Given the description of an element on the screen output the (x, y) to click on. 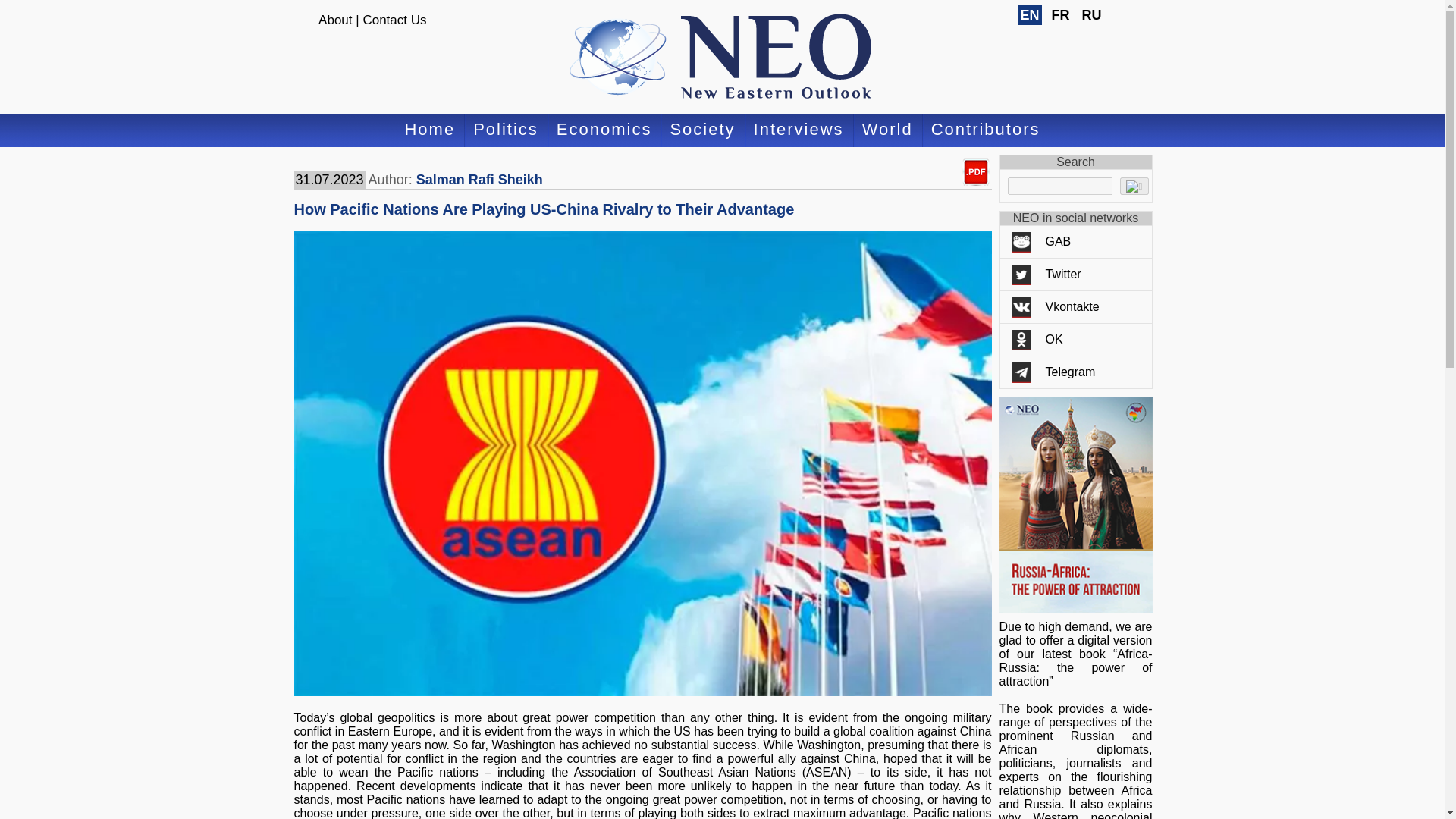
World (887, 130)
Politics (505, 130)
RU (1091, 14)
Economics (604, 130)
Contributors (985, 130)
New Eastern Outlook (721, 56)
About (335, 20)
Home (429, 130)
Contact Us (394, 20)
FR (1060, 14)
Society (702, 130)
EN (1029, 14)
Interviews (798, 130)
New Eastern Outlook (721, 56)
Salman Rafi Sheikh (479, 179)
